Given the description of an element on the screen output the (x, y) to click on. 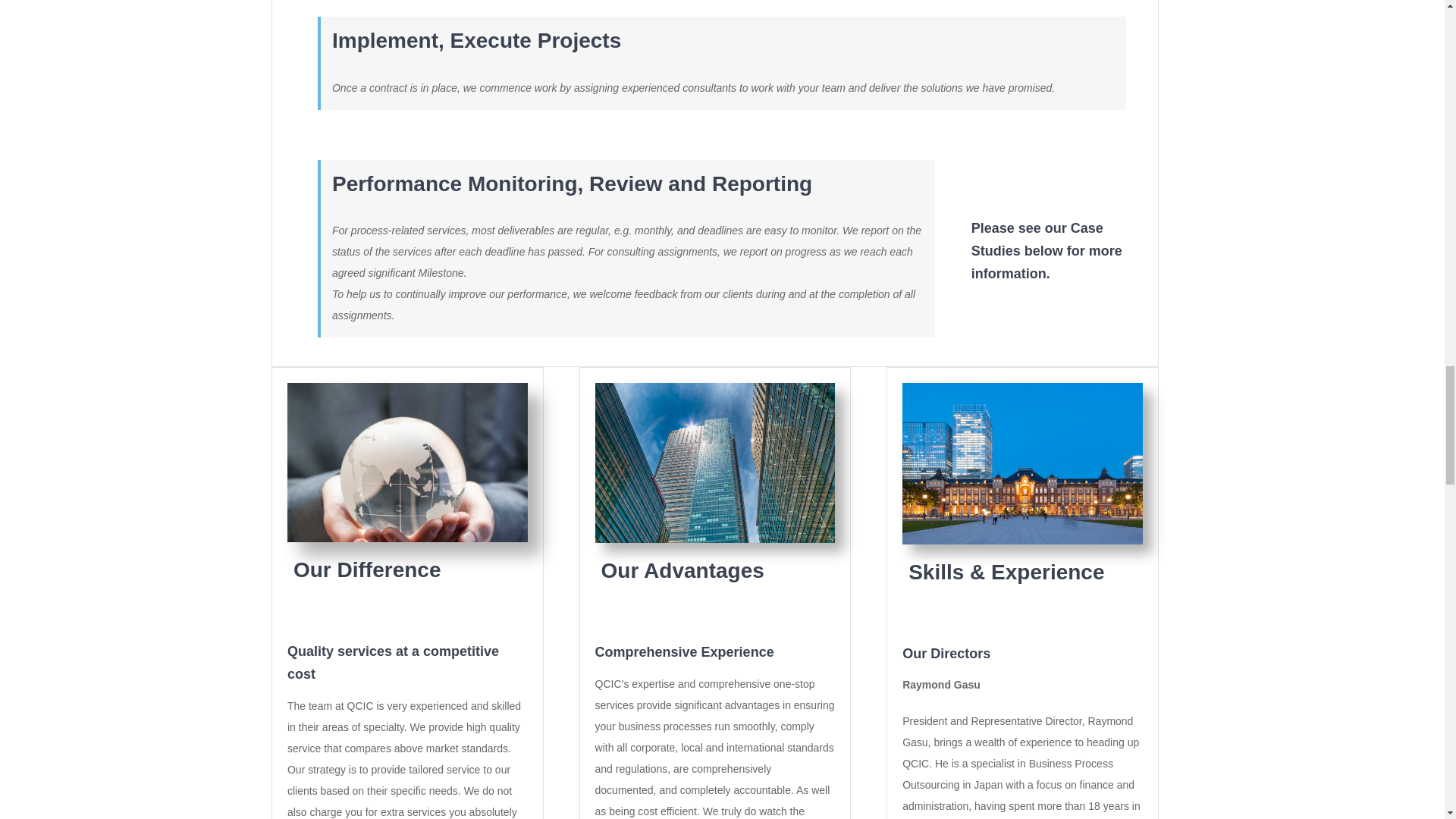
city-3612795 (715, 462)
